Given the description of an element on the screen output the (x, y) to click on. 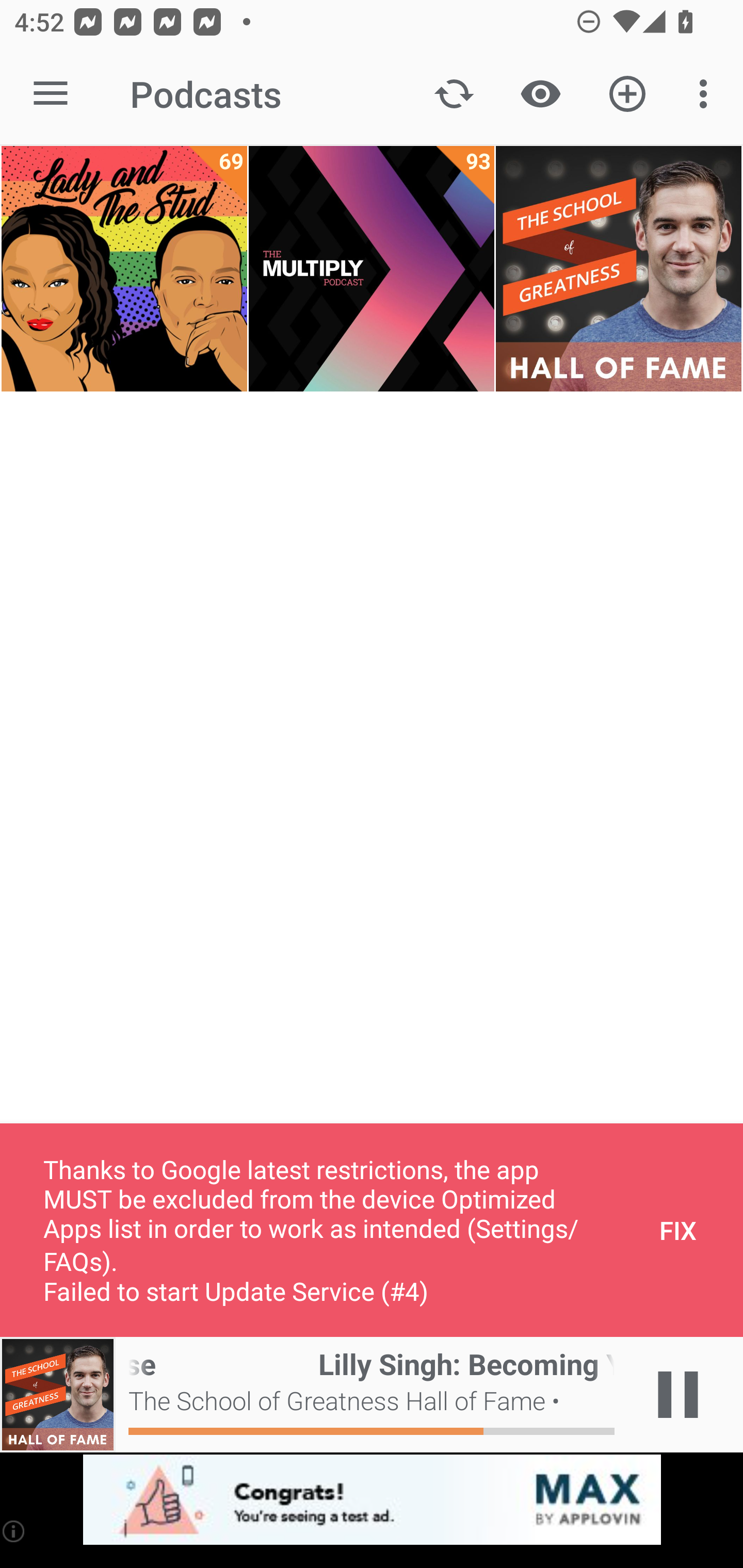
Open navigation sidebar (50, 93)
Update (453, 93)
Show / Hide played content (540, 93)
Add new Podcast (626, 93)
More options (706, 93)
Lady and The Stud 69 (124, 268)
The Multiply Podcast 93 (371, 268)
The School of Greatness Hall of Fame (618, 268)
FIX (677, 1229)
Play / Pause (677, 1394)
app-monetization (371, 1500)
(i) (14, 1531)
